Given the description of an element on the screen output the (x, y) to click on. 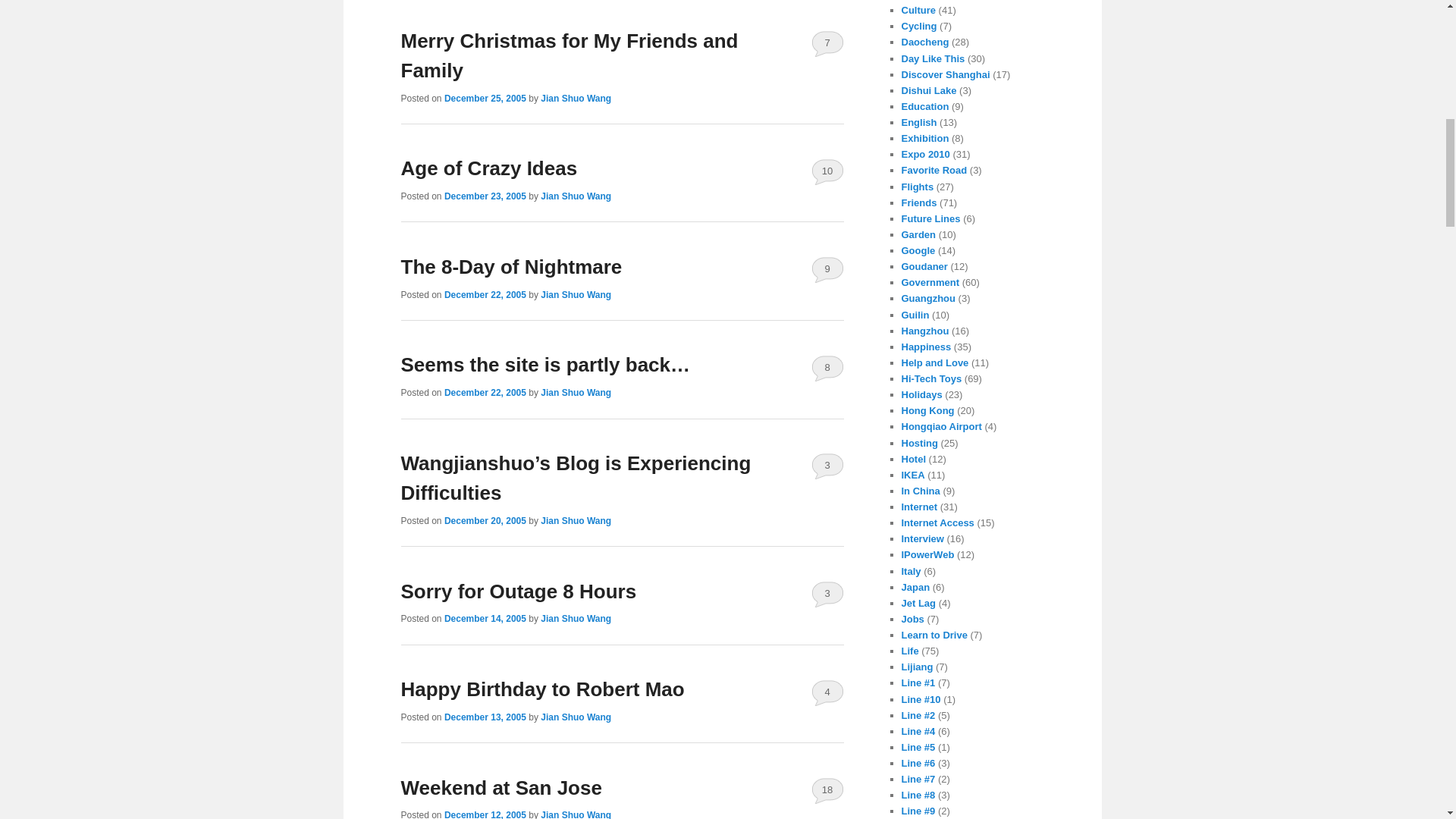
6:47 pm (484, 195)
11:41 pm (484, 294)
12:01 am (484, 98)
View all posts by Jian Shuo Wang (575, 195)
View all posts by Jian Shuo Wang (575, 98)
